Given the description of an element on the screen output the (x, y) to click on. 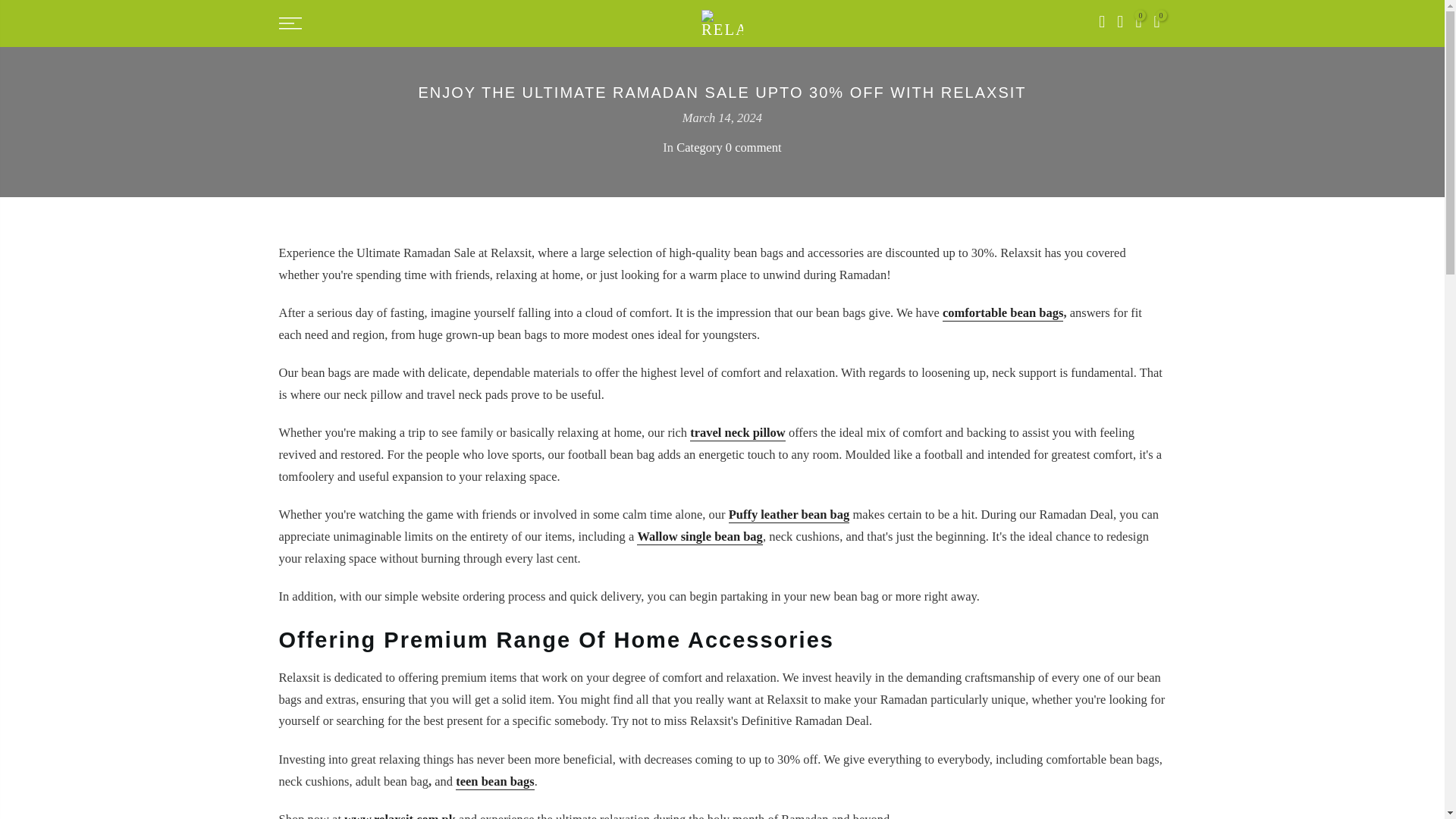
Puffy leather bean bag (789, 514)
teen bean bags (494, 781)
Wallow single bean bag (699, 537)
comfortable bean bags (1003, 313)
0 comment (753, 147)
Category (699, 147)
travel neck pillow (738, 433)
www.relaxsit.com.pk (399, 815)
